Given the description of an element on the screen output the (x, y) to click on. 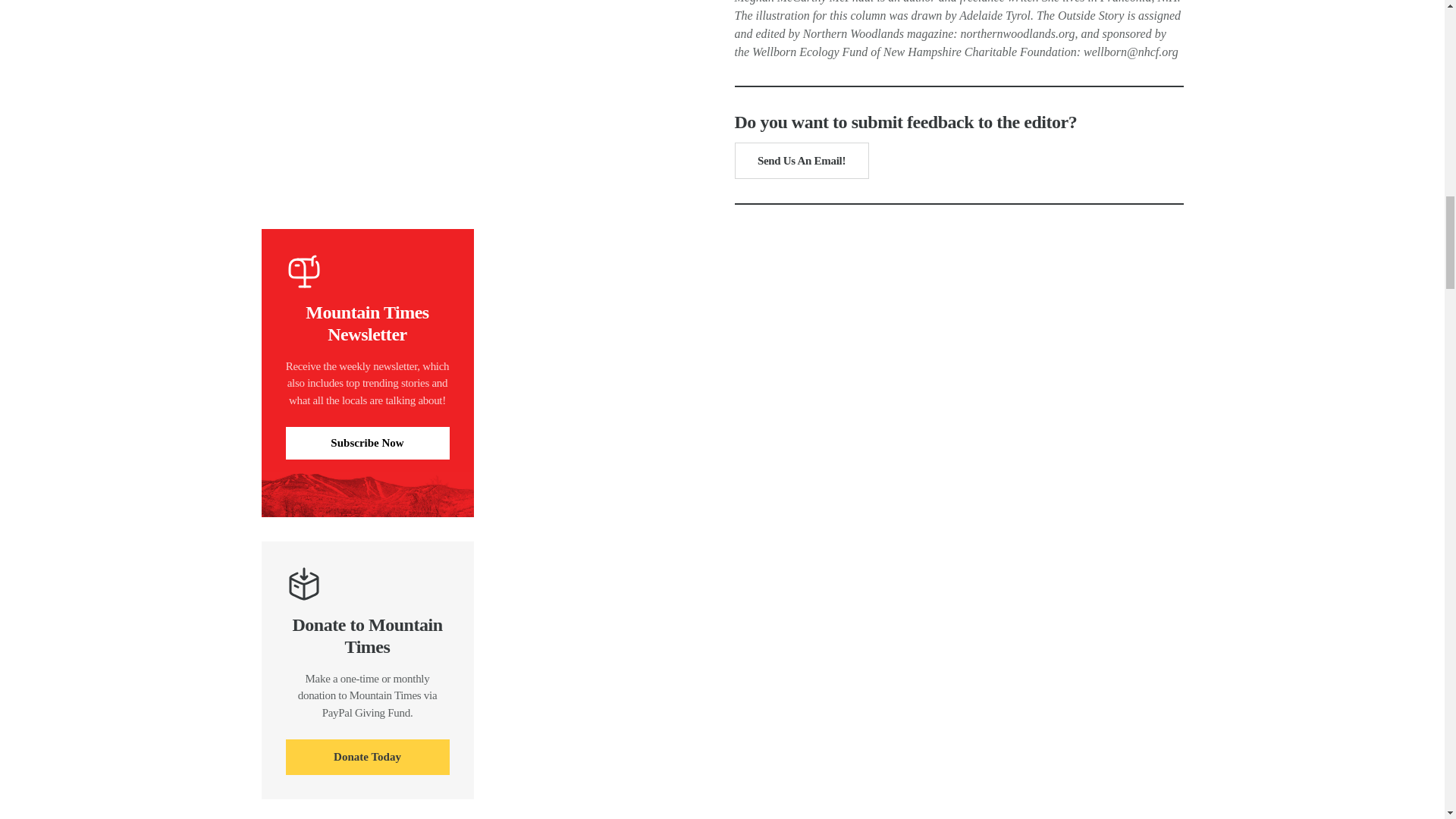
Subscribe Now (366, 442)
Send Us An Email! (800, 160)
Donate Today (366, 756)
